Given the description of an element on the screen output the (x, y) to click on. 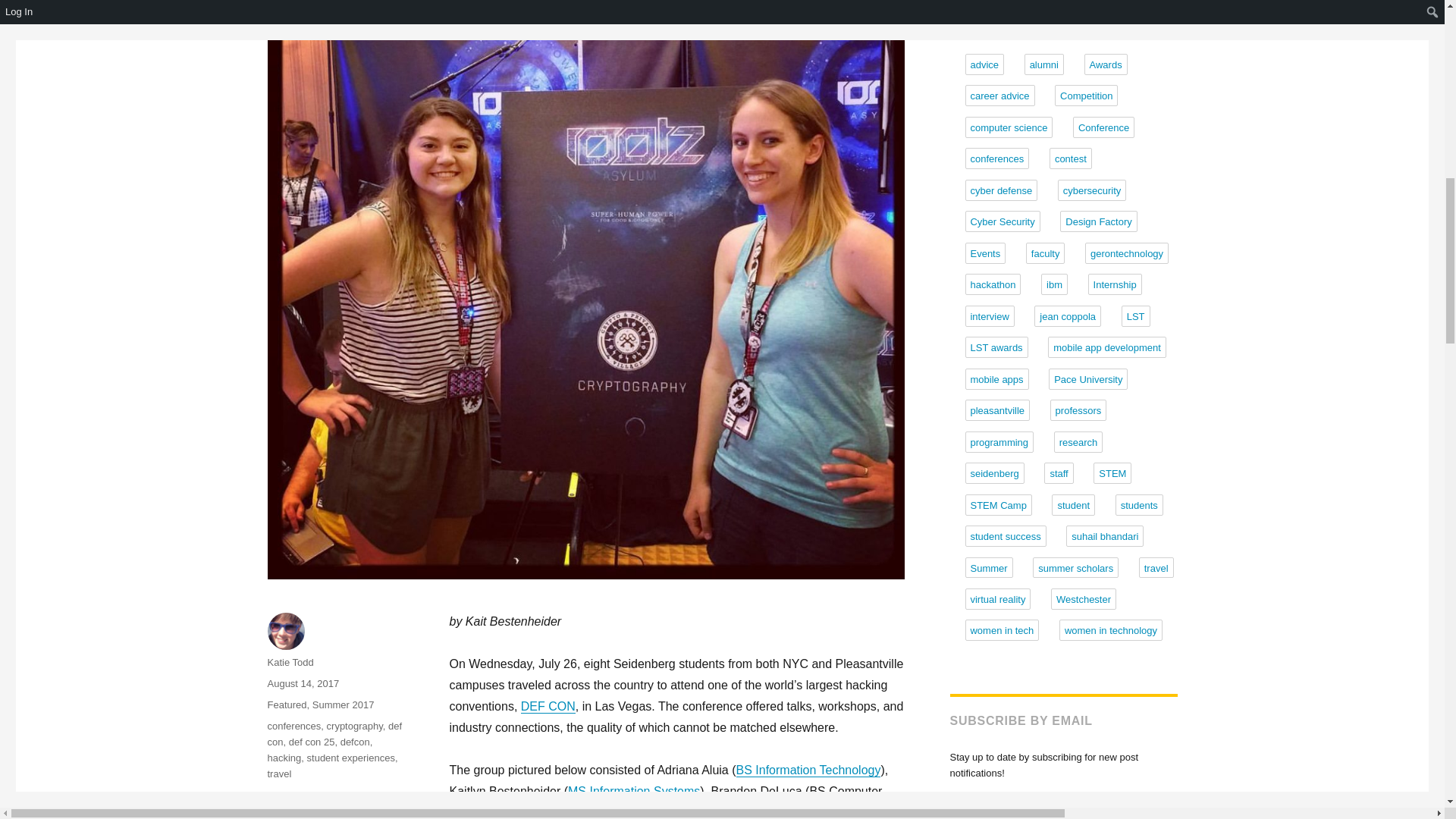
def con 25 (311, 741)
computer science (1007, 127)
advice (983, 64)
BS Information Technology (808, 769)
MS Computer Science (660, 812)
Awards (1105, 64)
BS Information Systems (663, 812)
alumni (1044, 64)
cryptography (354, 726)
Featured (285, 704)
def con (333, 733)
conferences (293, 726)
defcon (354, 741)
career advice (998, 95)
Summer 2017 (343, 704)
